Given the description of an element on the screen output the (x, y) to click on. 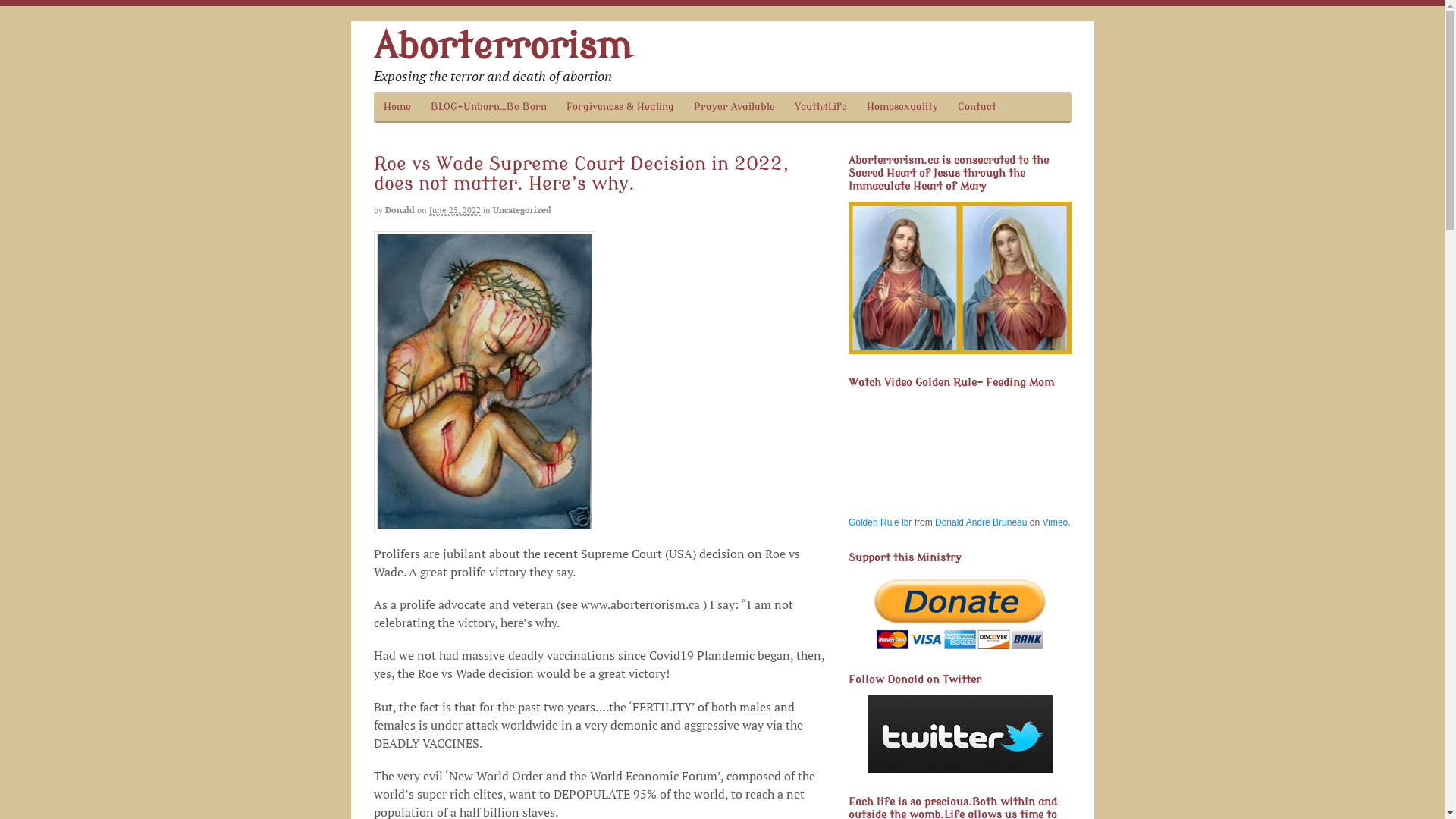
Uncategorized Element type: text (521, 209)
Prayer Available Element type: text (734, 106)
Youth4Life Element type: text (820, 106)
Contact Element type: text (981, 106)
Homosexuality Element type: text (901, 106)
Donald Element type: text (399, 209)
Vimeo Element type: text (1054, 522)
Aborterrorism Element type: text (501, 46)
Follow Donald on Twitter Element type: hover (959, 734)
Support this Ministry Element type: hover (959, 612)
Golden Rule lbr Element type: text (879, 522)
Forgiveness & Healing Element type: text (620, 106)
Home Element type: text (396, 106)
Donald Andre Bruneau Element type: text (980, 522)
